Given the description of an element on the screen output the (x, y) to click on. 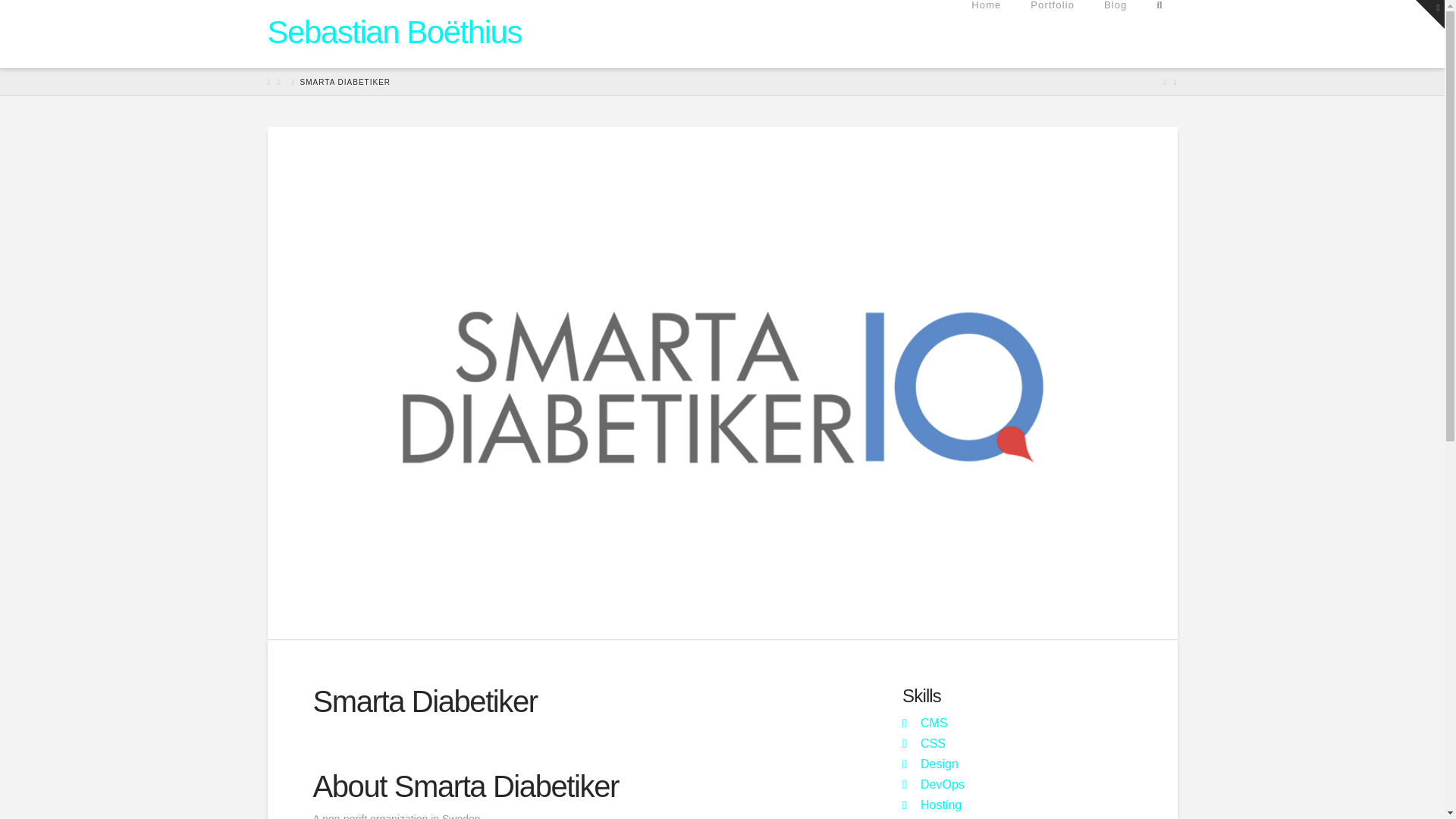
CMS (933, 722)
CSS (932, 743)
Design (939, 763)
SMARTA DIABETIKER (344, 81)
DevOps (941, 784)
Hosting (940, 804)
Portfolio (1051, 33)
You Are Here (344, 81)
